Given the description of an element on the screen output the (x, y) to click on. 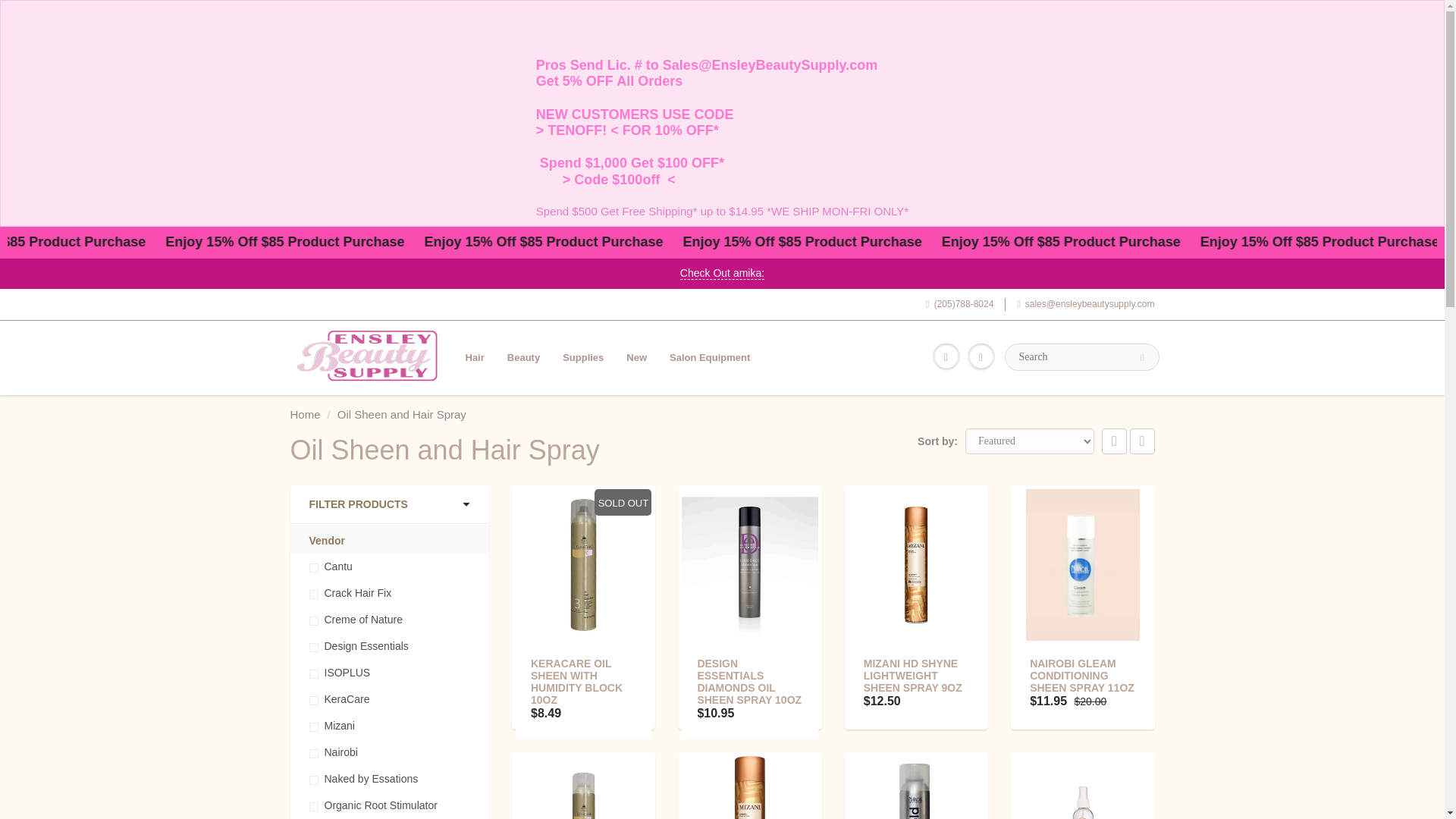
List View (1141, 441)
Check Out amika: (721, 273)
Grid view (1114, 441)
Home (304, 413)
